Given the description of an element on the screen output the (x, y) to click on. 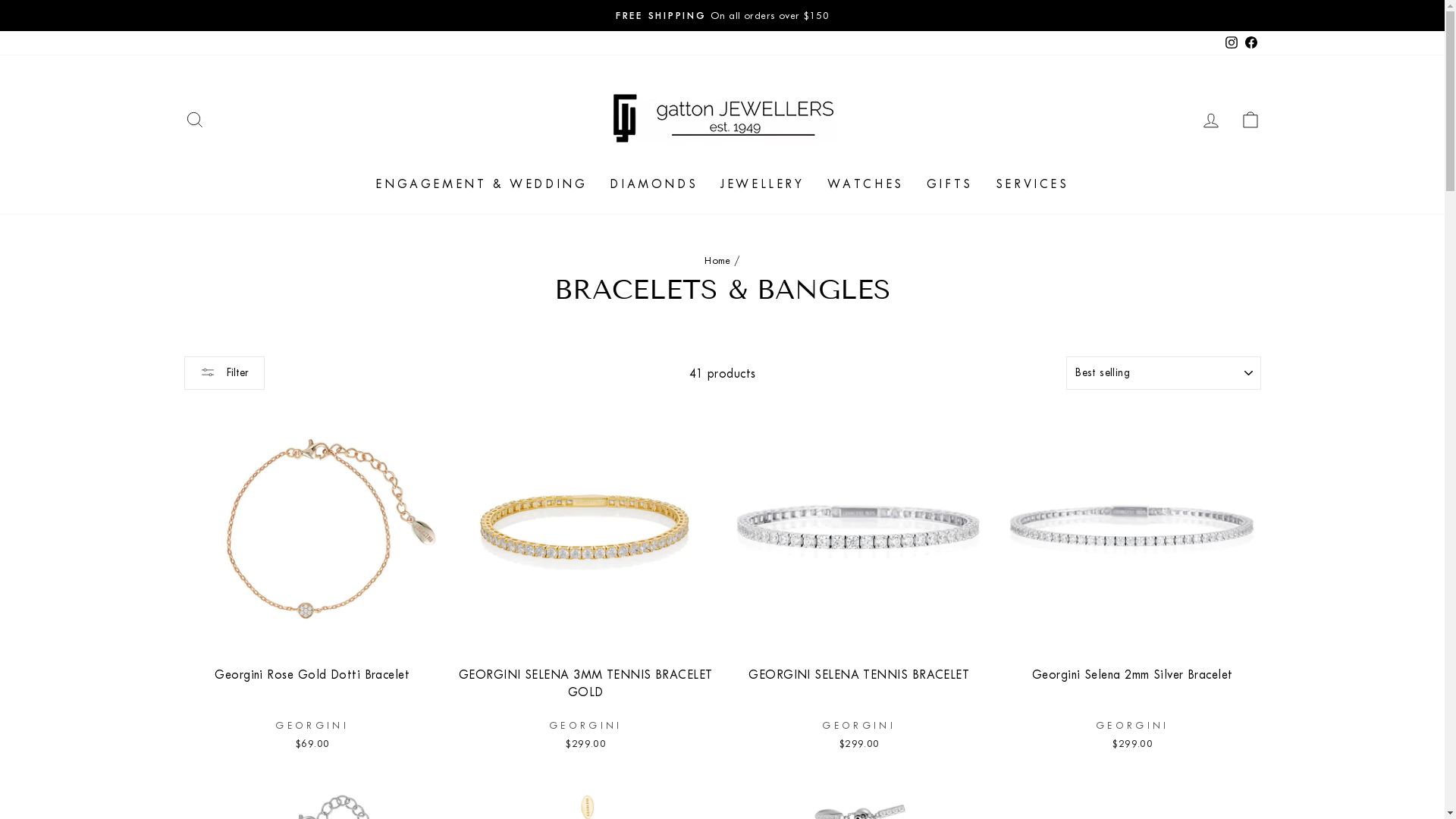
Instagram Element type: text (1230, 42)
WATCHES Element type: text (865, 183)
Skip to content Element type: text (0, 0)
GEORGINI SELENA TENNIS BRACELET
GEORGINI
$299.00 Element type: text (859, 578)
Facebook Element type: text (1250, 42)
SEARCH Element type: text (193, 119)
CART Element type: text (1249, 119)
SERVICES Element type: text (1032, 183)
LOG IN Element type: text (1210, 119)
JEWELLERY Element type: text (762, 183)
GATTON JEWELLERSGatton QLD Element type: text (722, 15)
Georgini Selena 2mm Silver Bracelet
GEORGINI
$299.00 Element type: text (1132, 578)
Filter Element type: text (224, 372)
DIAMONDS Element type: text (653, 183)
Home Element type: text (717, 260)
GEORGINI SELENA 3MM TENNIS BRACELET GOLD
GEORGINI
$299.00 Element type: text (585, 578)
GIFTS Element type: text (949, 183)
ENGAGEMENT & WEDDING Element type: text (481, 183)
Georgini Rose Gold Dotti Bracelet
GEORGINI
$69.00 Element type: text (311, 578)
